Given the description of an element on the screen output the (x, y) to click on. 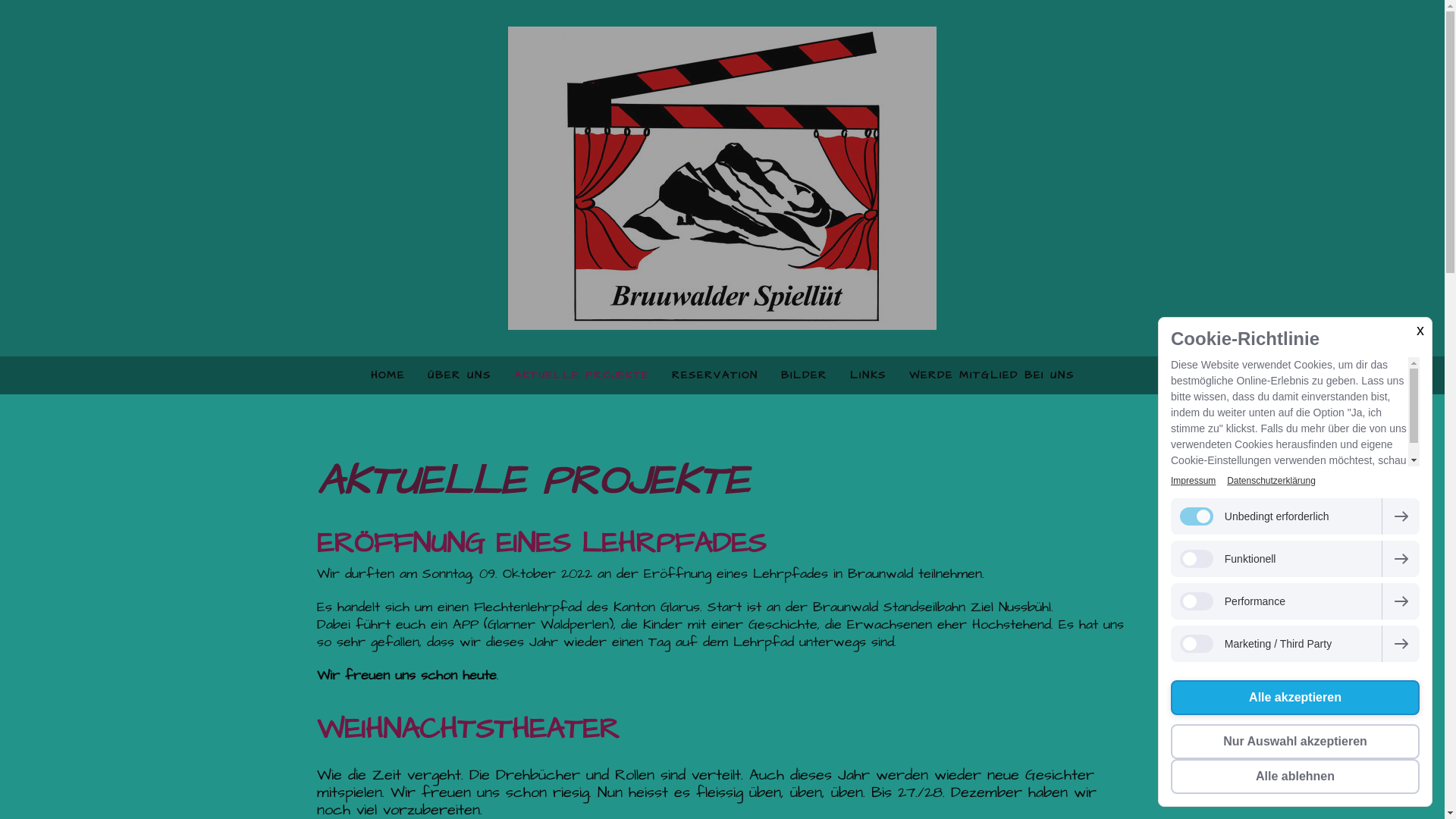
RESERVATION Element type: text (713, 375)
BILDER Element type: text (802, 375)
WERDE MITGLIED BEI UNS Element type: text (991, 375)
Alle akzeptieren Element type: text (1294, 697)
LINKS Element type: text (867, 375)
HOME Element type: text (387, 375)
Nur Auswahl akzeptieren Element type: text (1294, 741)
Impressum Element type: text (1192, 480)
Alle ablehnen Element type: text (1294, 776)
AKTUELLE PROJEKTE Element type: text (580, 375)
